Given the description of an element on the screen output the (x, y) to click on. 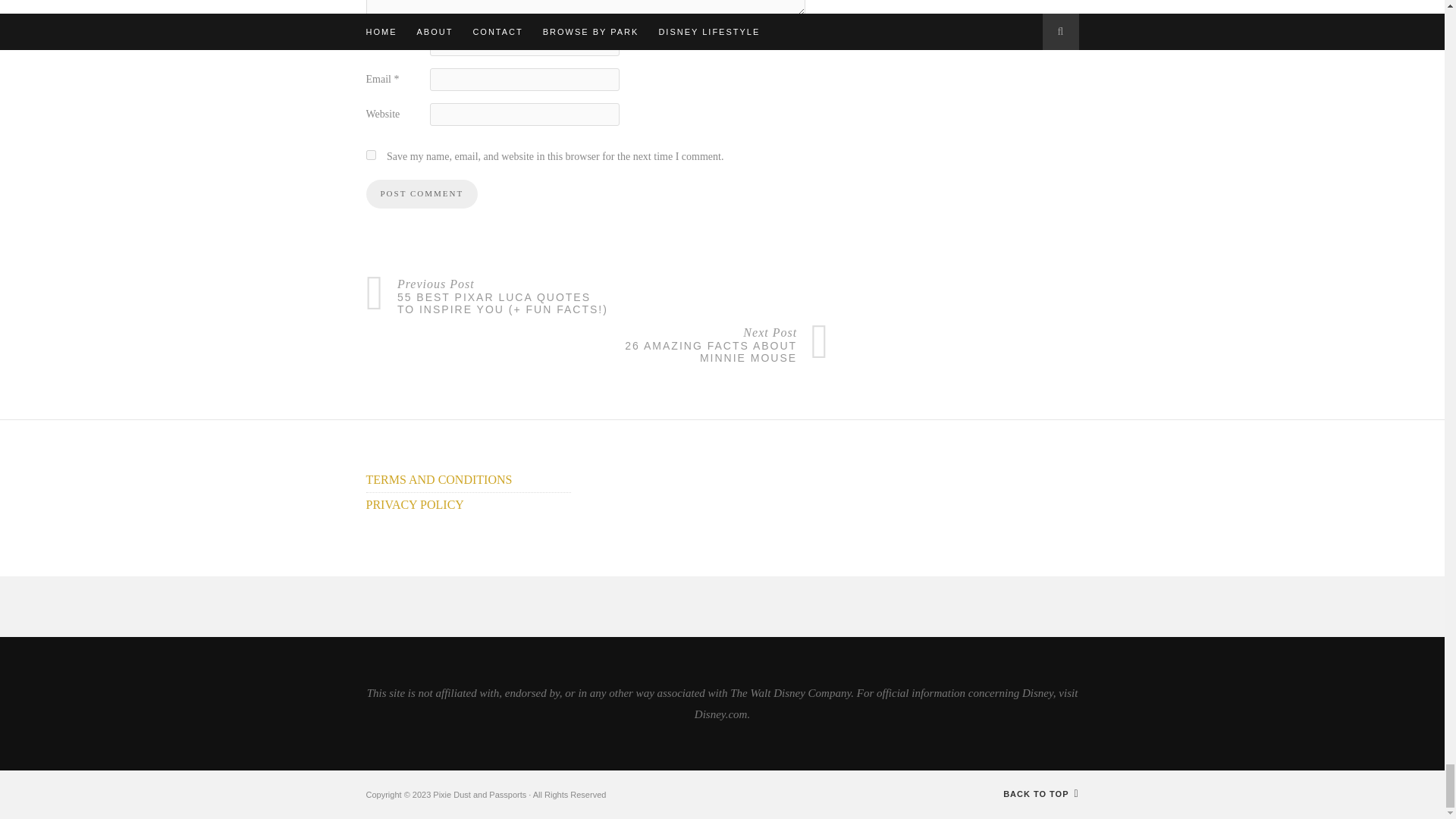
Post Comment (421, 193)
yes (370, 154)
